Given the description of an element on the screen output the (x, y) to click on. 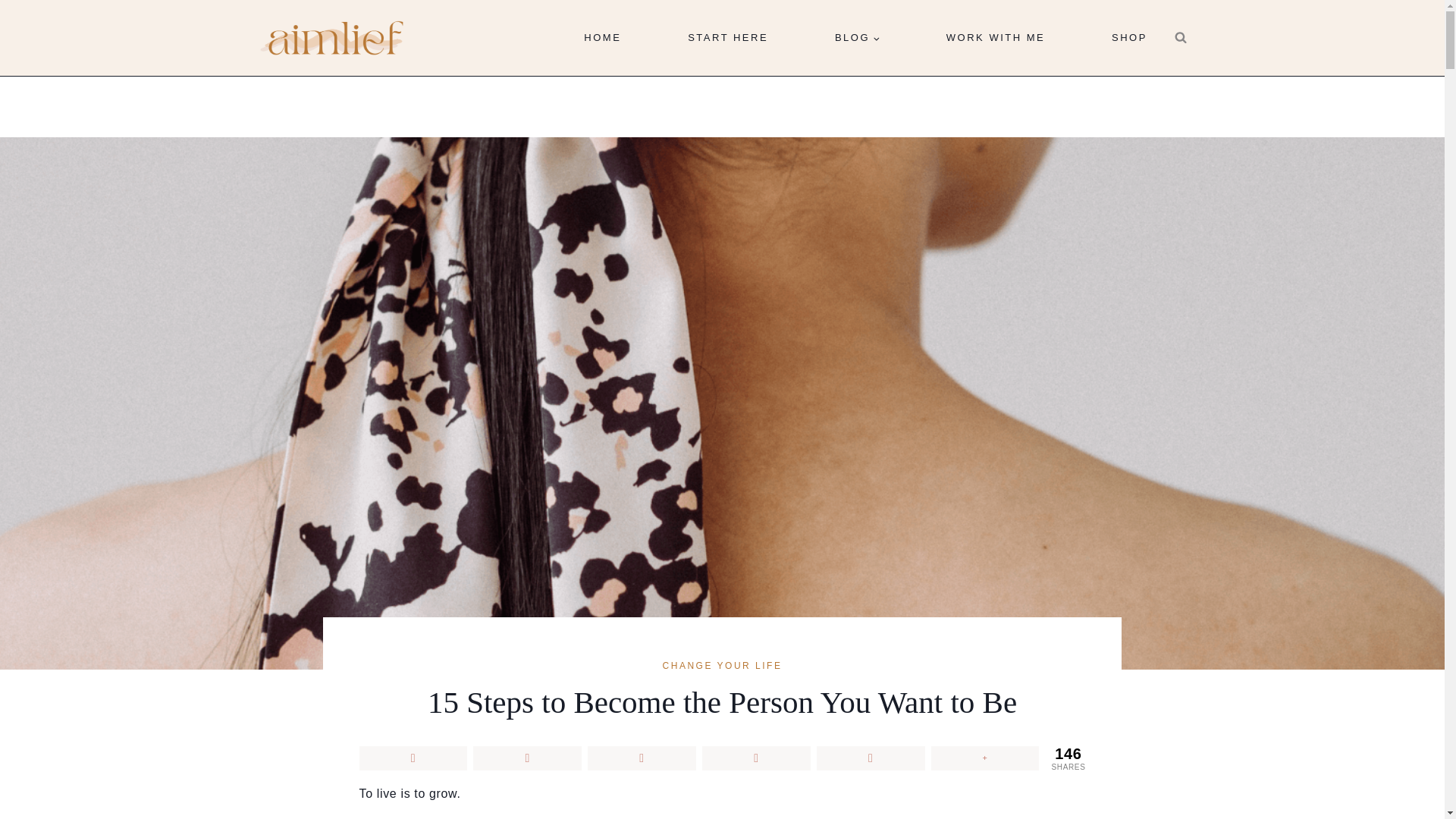
Tweet this ! (526, 758)
HOME (602, 37)
Submit this to Pinterest (641, 758)
Telegram (870, 758)
More share links (985, 758)
START HERE (728, 37)
Share this on Facebook (413, 758)
CHANGE YOUR LIFE (722, 665)
WhatsApp (755, 758)
WORK WITH ME (995, 37)
